Given the description of an element on the screen output the (x, y) to click on. 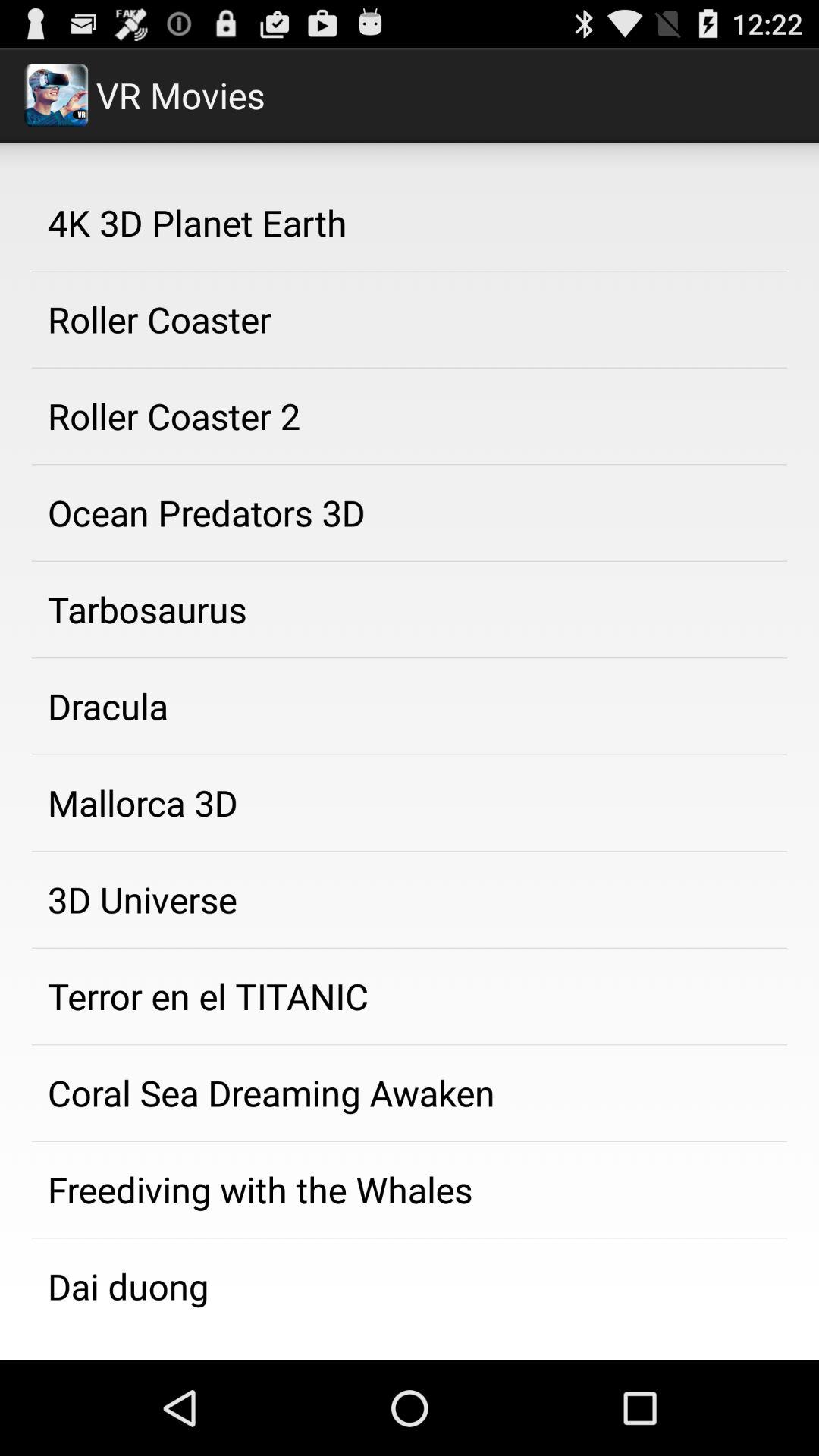
jump until dai duong icon (409, 1283)
